Given the description of an element on the screen output the (x, y) to click on. 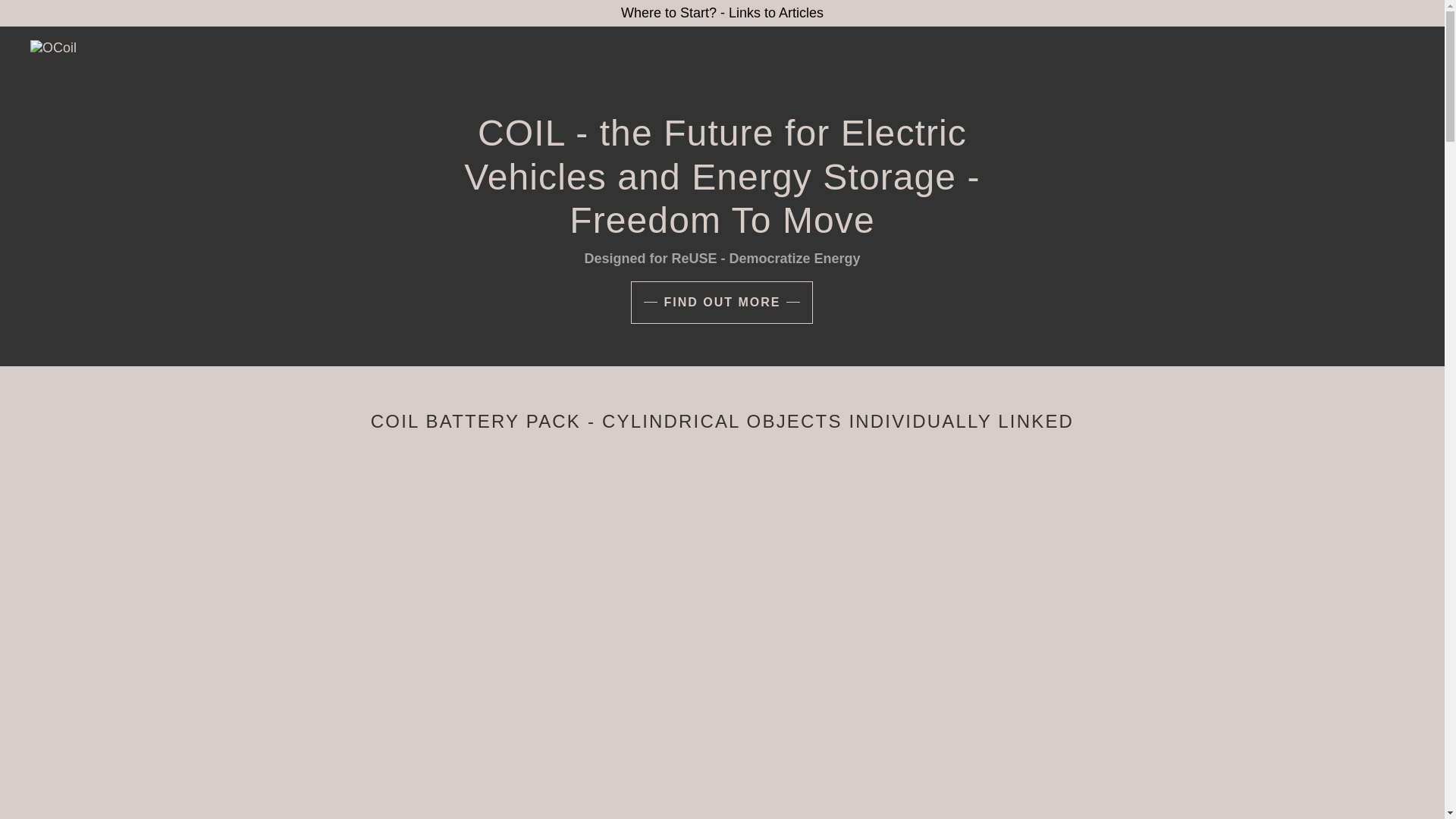
OCoil (53, 46)
FIND OUT MORE (721, 302)
